Given the description of an element on the screen output the (x, y) to click on. 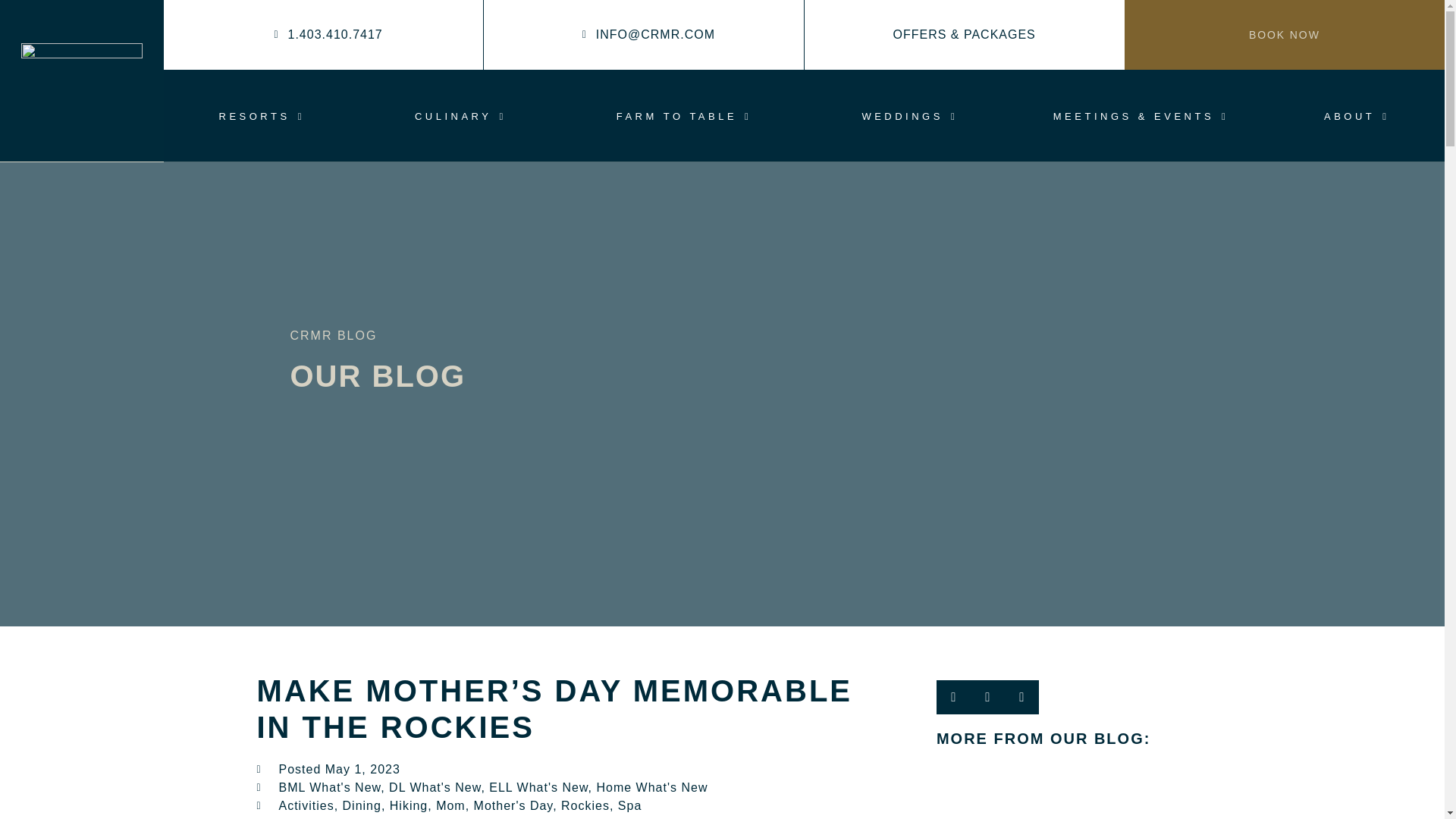
RESORTS (261, 116)
1.403.410.7417 (323, 34)
